Given the description of an element on the screen output the (x, y) to click on. 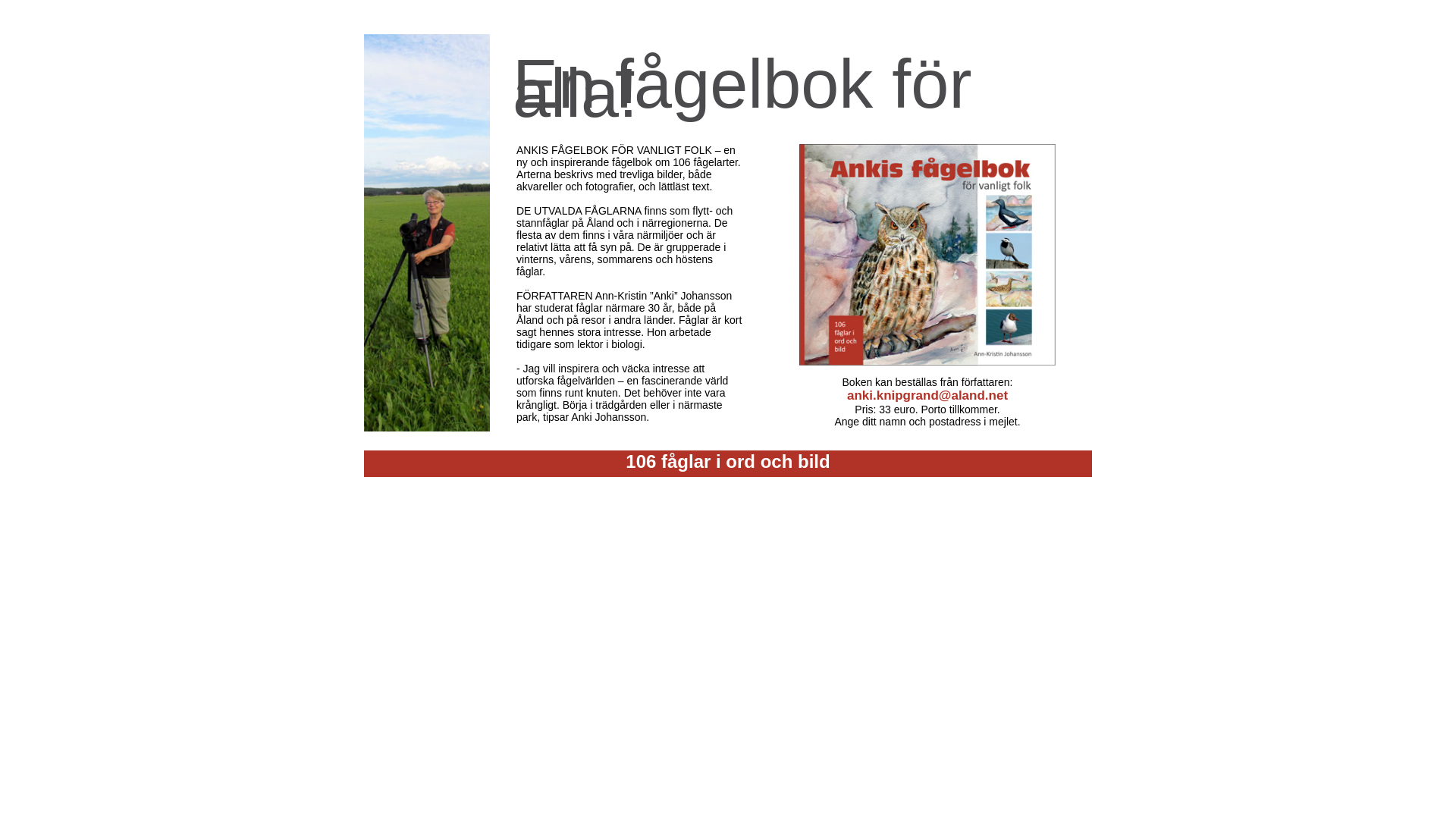
anki.knipgrand@aland.net Element type: text (927, 395)
